Given the description of an element on the screen output the (x, y) to click on. 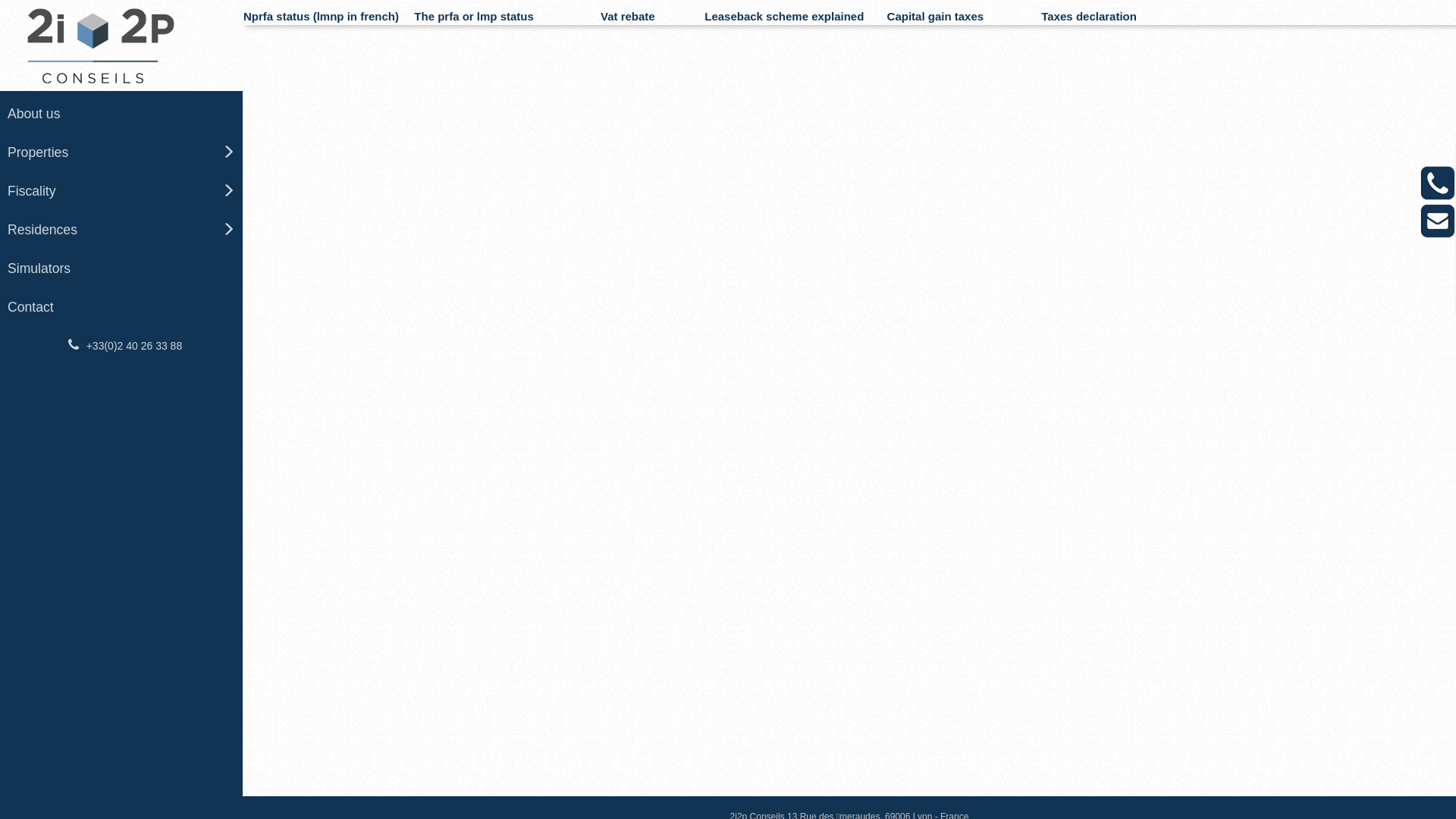
Residences Element type: text (121, 229)
Fiscality Element type: text (121, 191)
+33(0)2 40 26 33 88 Element type: text (121, 345)
Contact Element type: text (121, 307)
Properties Element type: text (121, 152)
Simulators Element type: text (121, 268)
About us Element type: text (121, 113)
